Given the description of an element on the screen output the (x, y) to click on. 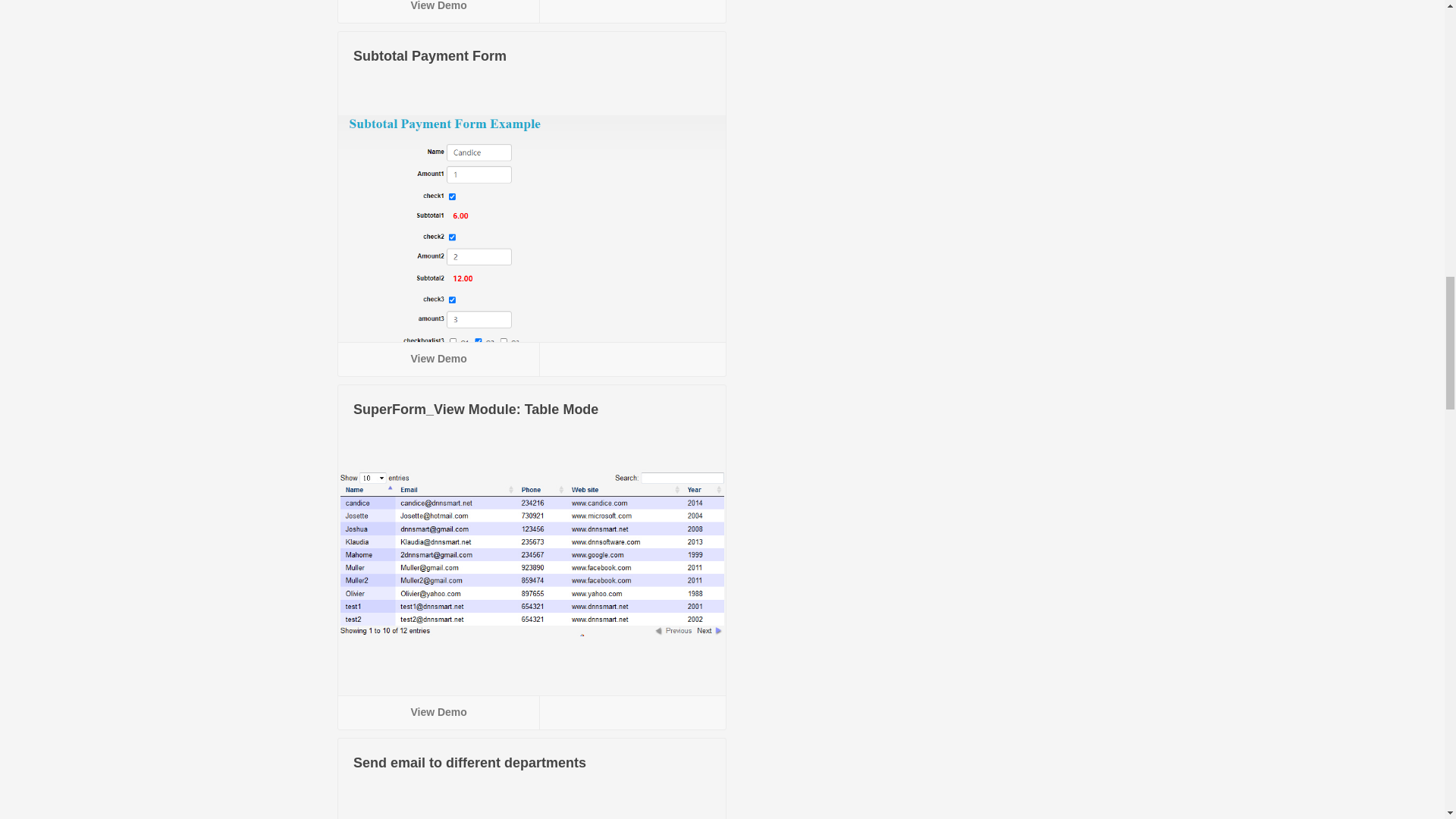
Subtotal Payment Form (429, 55)
Send email to different departments (469, 762)
